Given the description of an element on the screen output the (x, y) to click on. 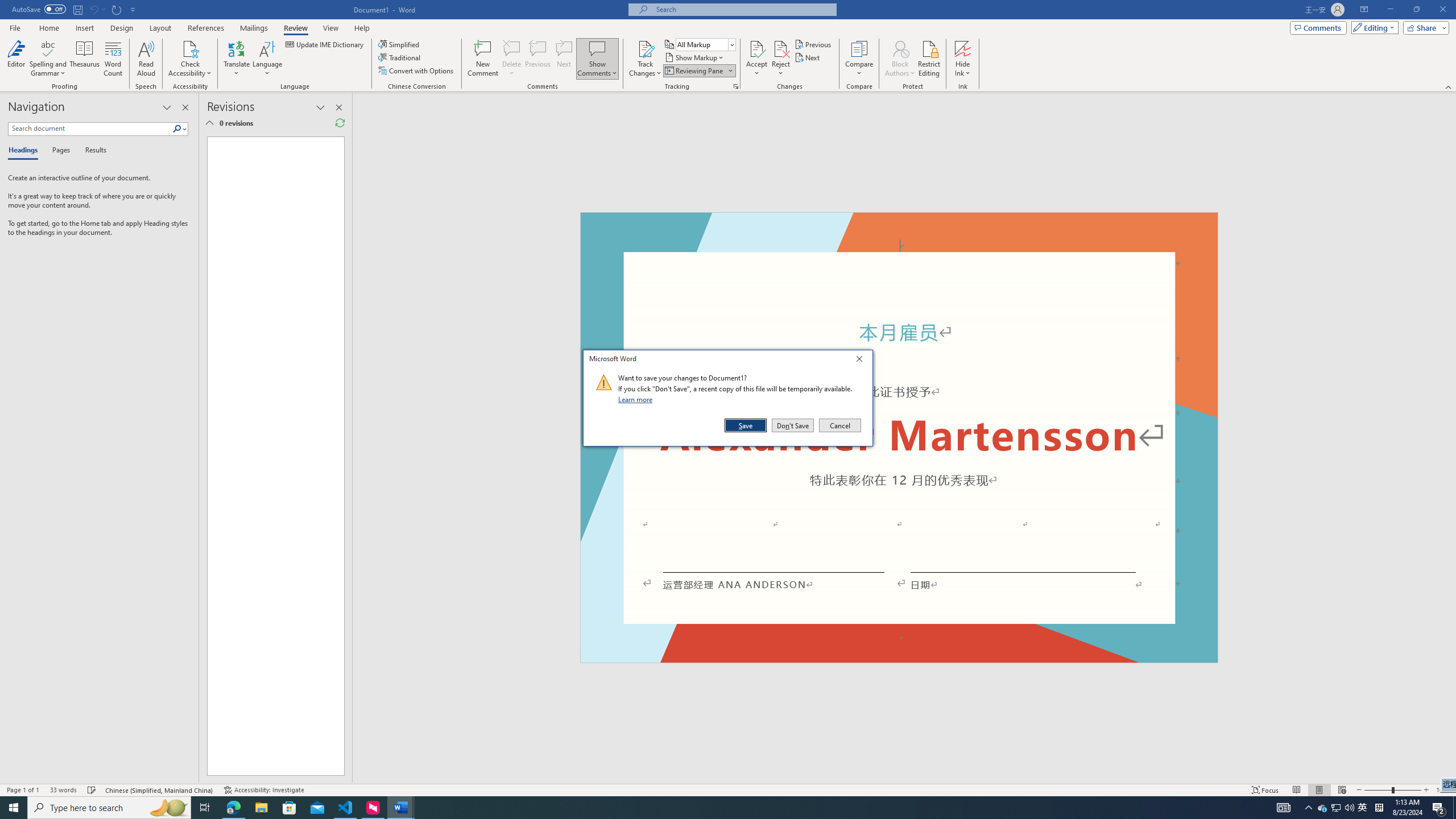
Spelling and Grammar Check Checking (91, 790)
Footer -Section 1- (898, 657)
Close pane (185, 107)
Update IME Dictionary... (324, 44)
Translate (236, 58)
Visual Studio Code - 1 running window (345, 807)
Word - 2 running windows (400, 807)
Layout (160, 28)
Show Detailed Summary (209, 122)
Next (808, 56)
Web Layout (1322, 807)
